Given the description of an element on the screen output the (x, y) to click on. 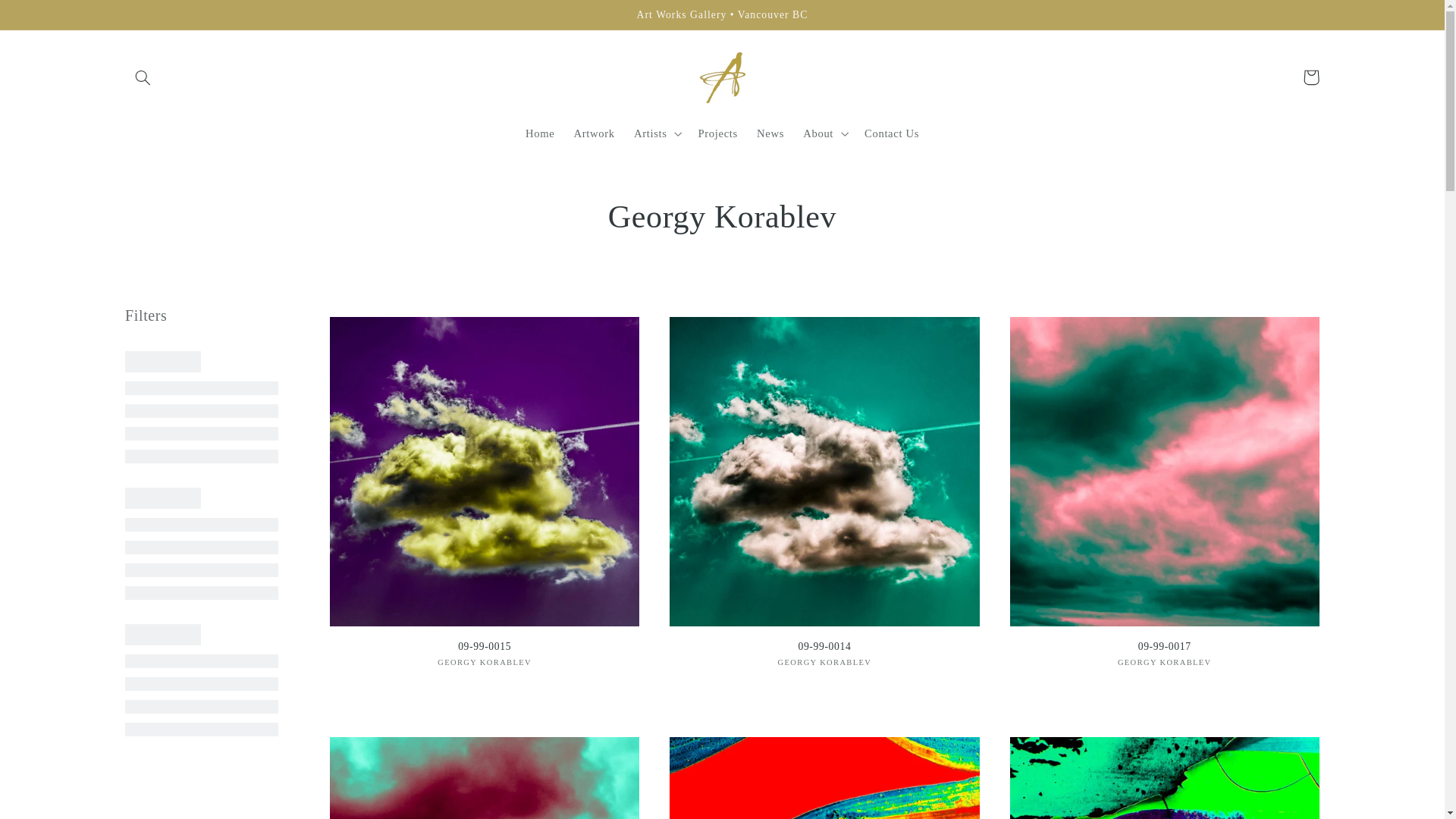
09-99-0014 (823, 646)
Artwork (594, 133)
Cart (1310, 77)
Projects (718, 133)
Home (539, 133)
09-99-0015 (484, 646)
Contact Us (891, 133)
News (769, 133)
Skip to content (48, 18)
